Given the description of an element on the screen output the (x, y) to click on. 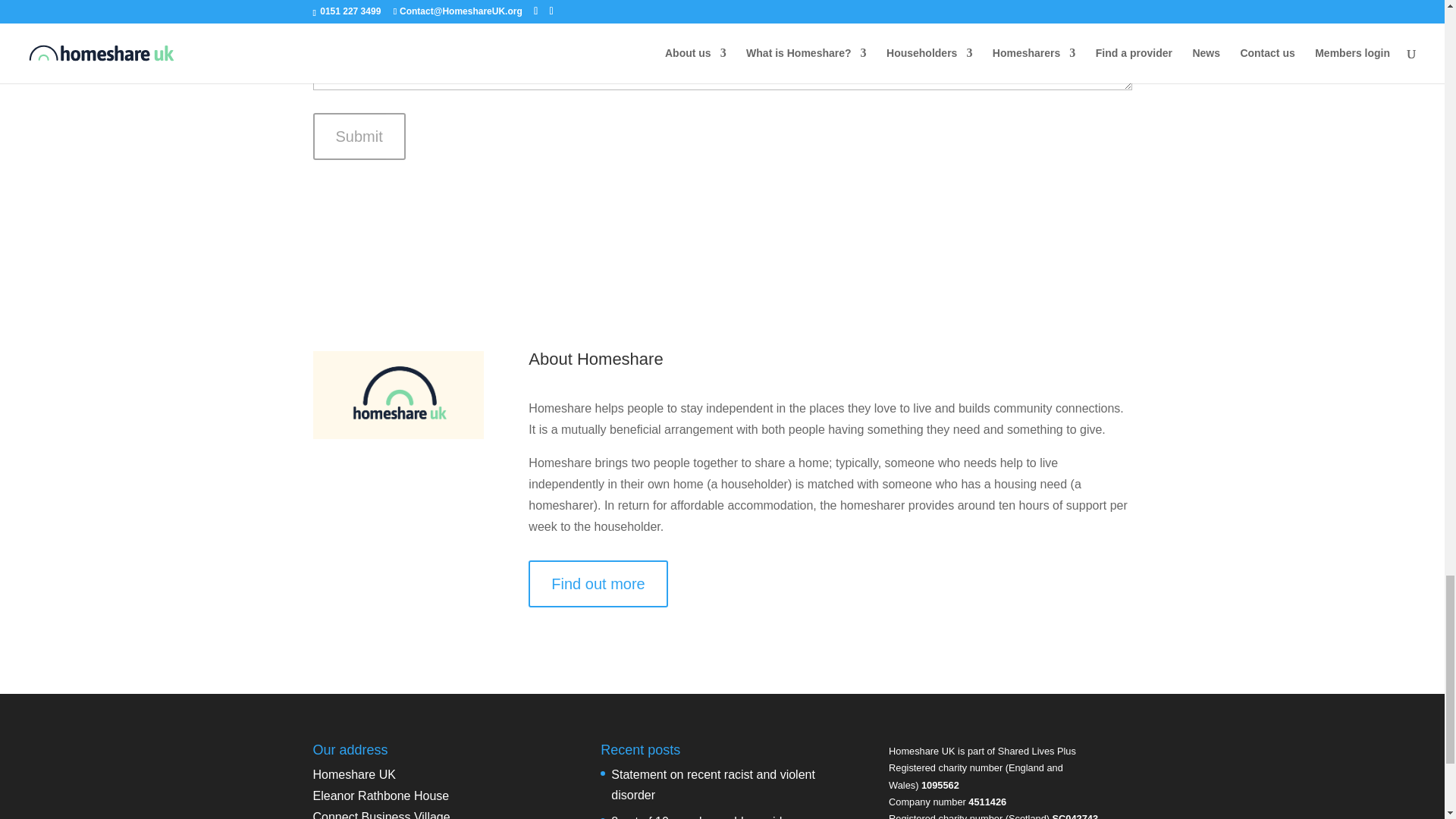
Submit (358, 136)
Find out more (597, 583)
Statement on recent racist and violent disorder (713, 784)
Submit (358, 136)
homeshareuk-social (398, 394)
